Given the description of an element on the screen output the (x, y) to click on. 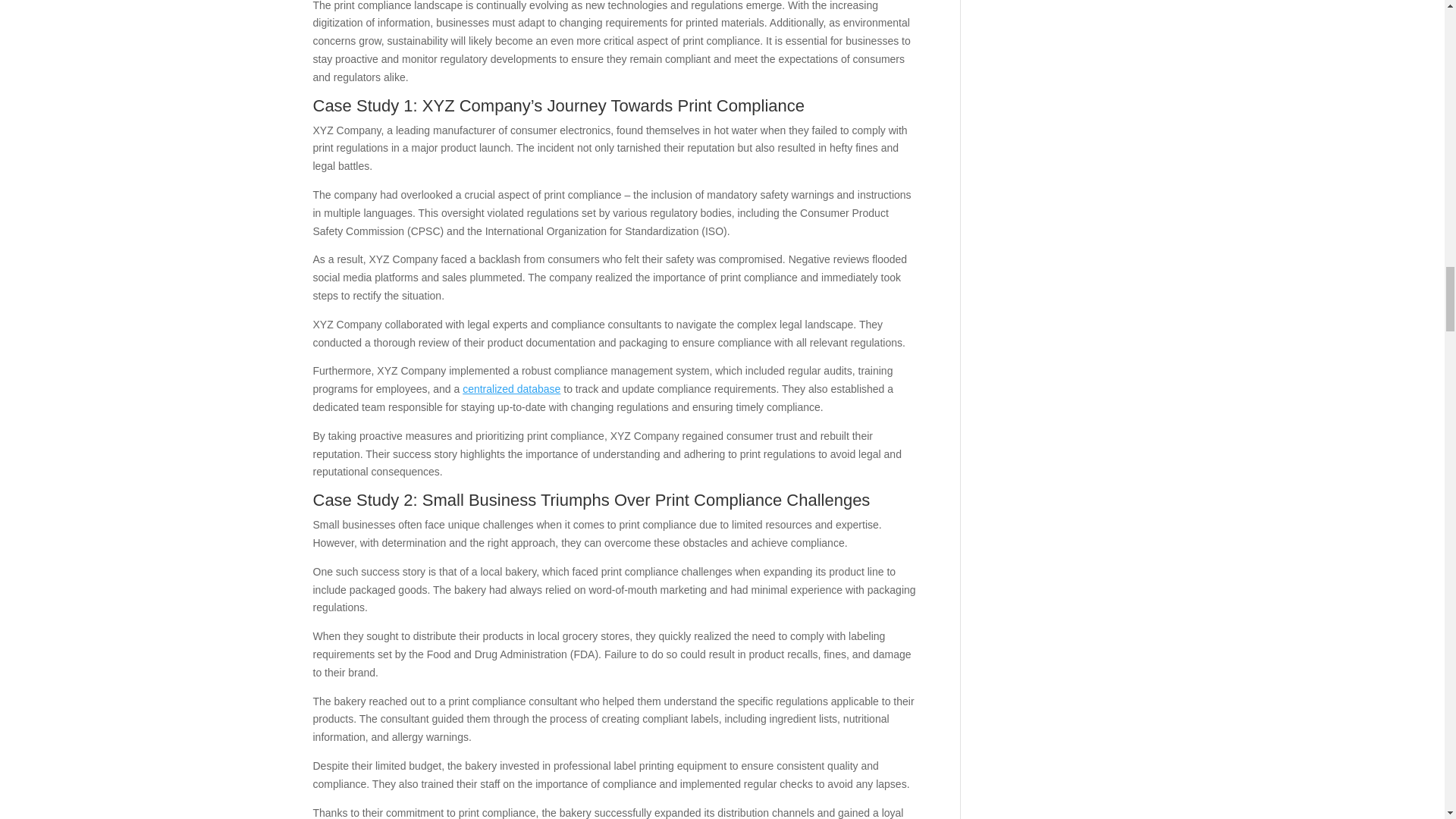
centralized database (511, 388)
